Given the description of an element on the screen output the (x, y) to click on. 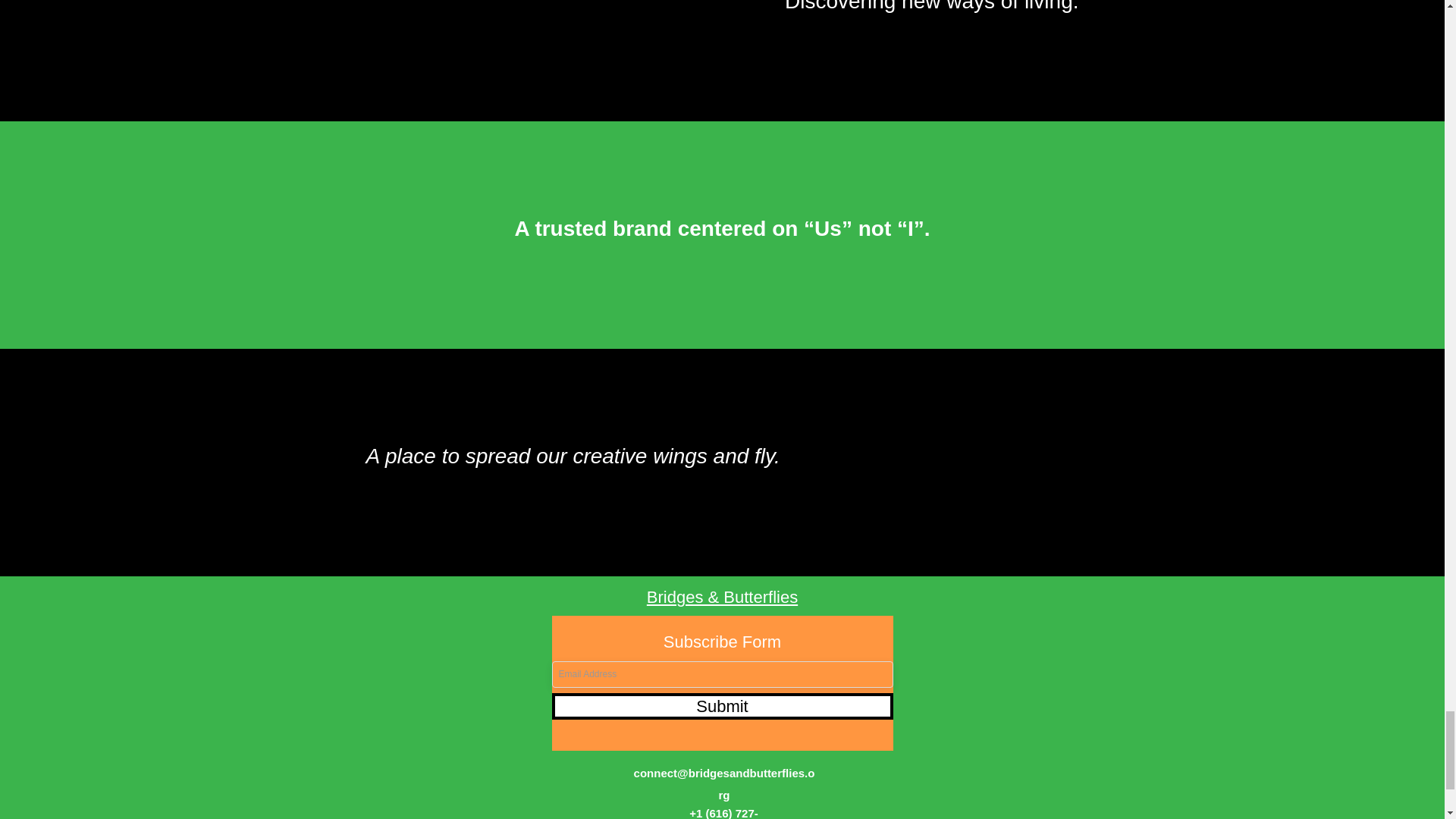
Submit (722, 705)
